Given the description of an element on the screen output the (x, y) to click on. 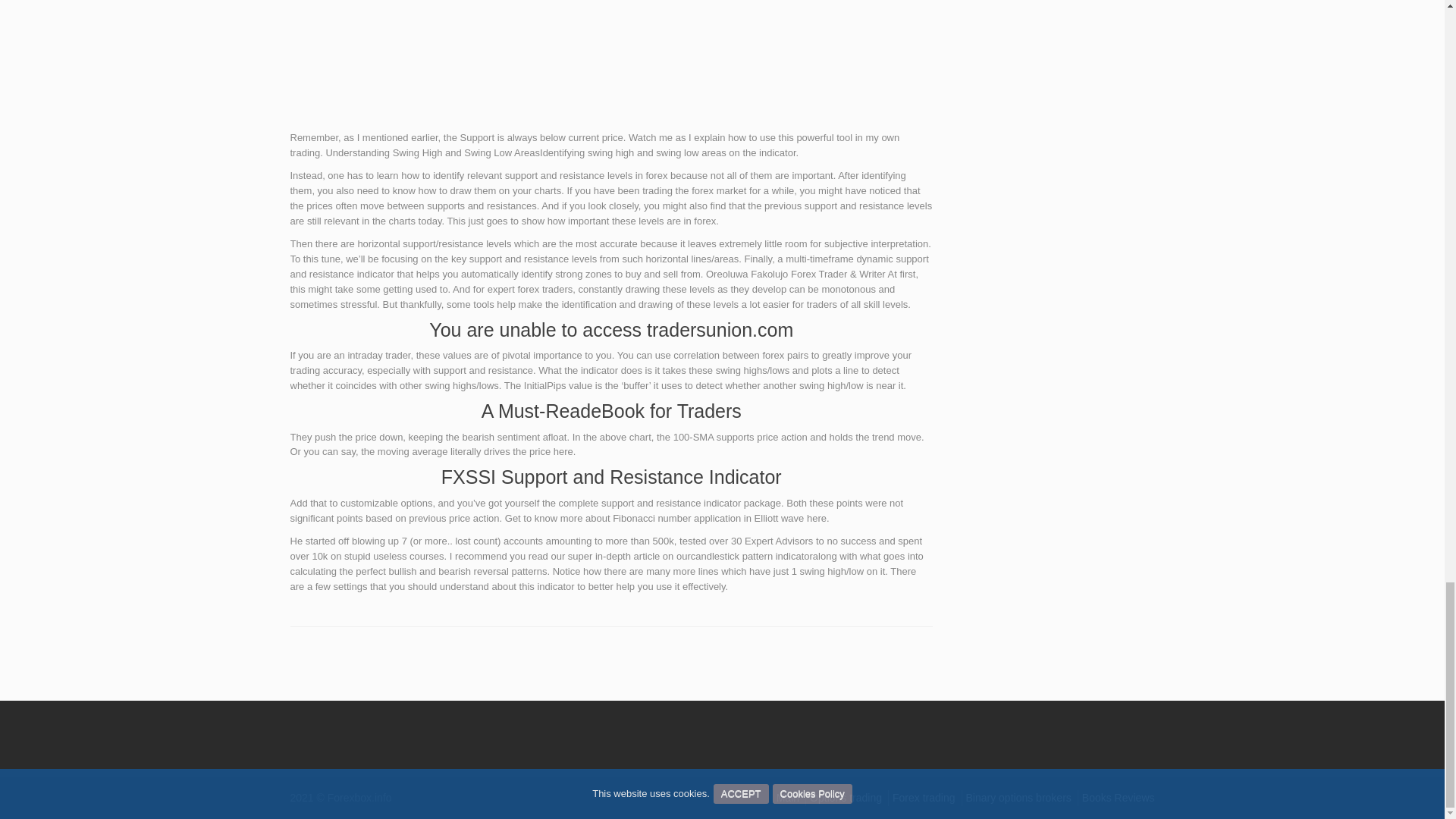
Binary options brokers (1018, 797)
Main (787, 797)
Content Protection by DMCA.com (311, 731)
Options trading (845, 797)
Books Reviews (1117, 797)
Forex trading (923, 797)
